Given the description of an element on the screen output the (x, y) to click on. 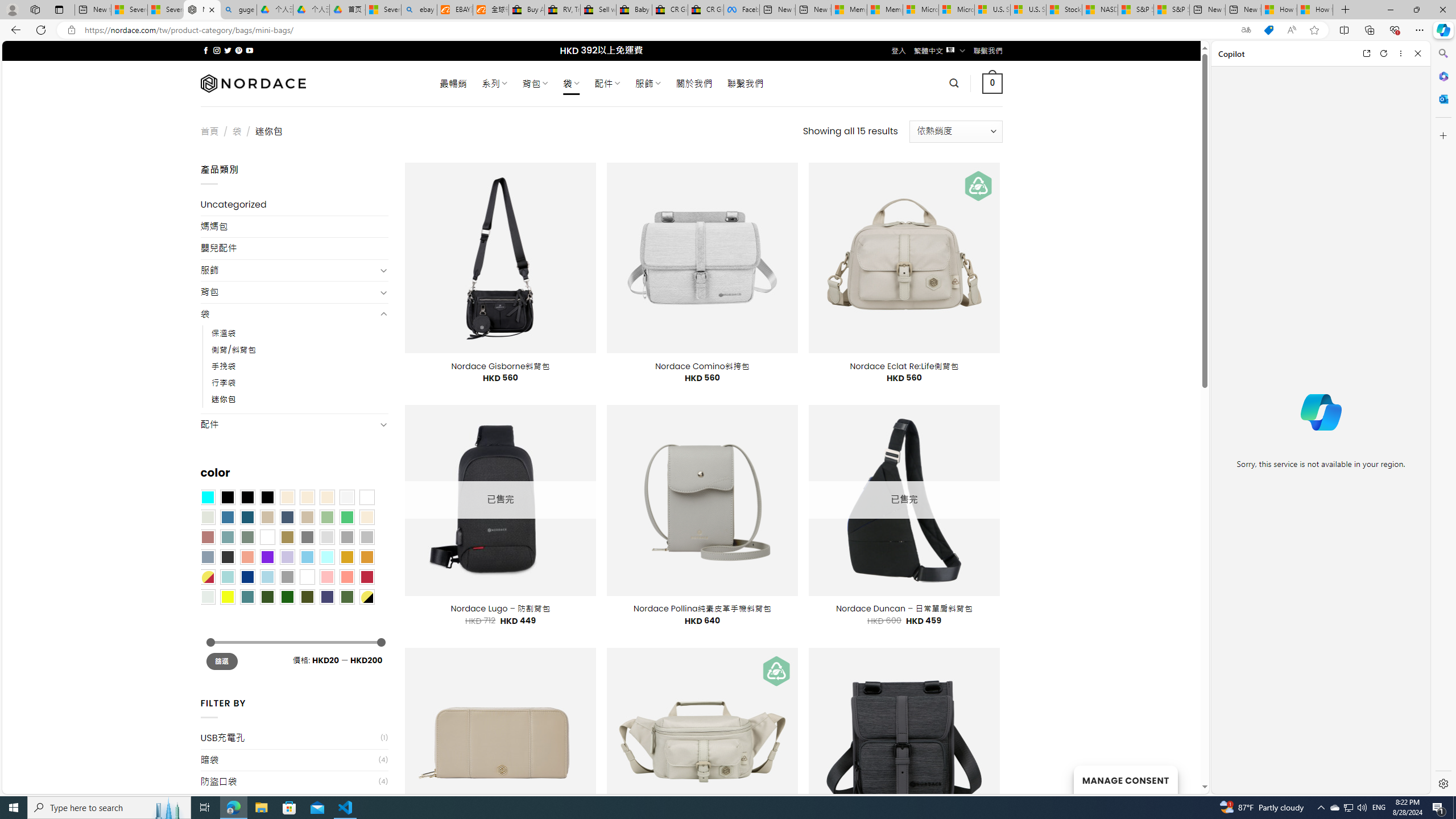
Buy Auto Parts & Accessories | eBay (525, 9)
